Given the description of an element on the screen output the (x, y) to click on. 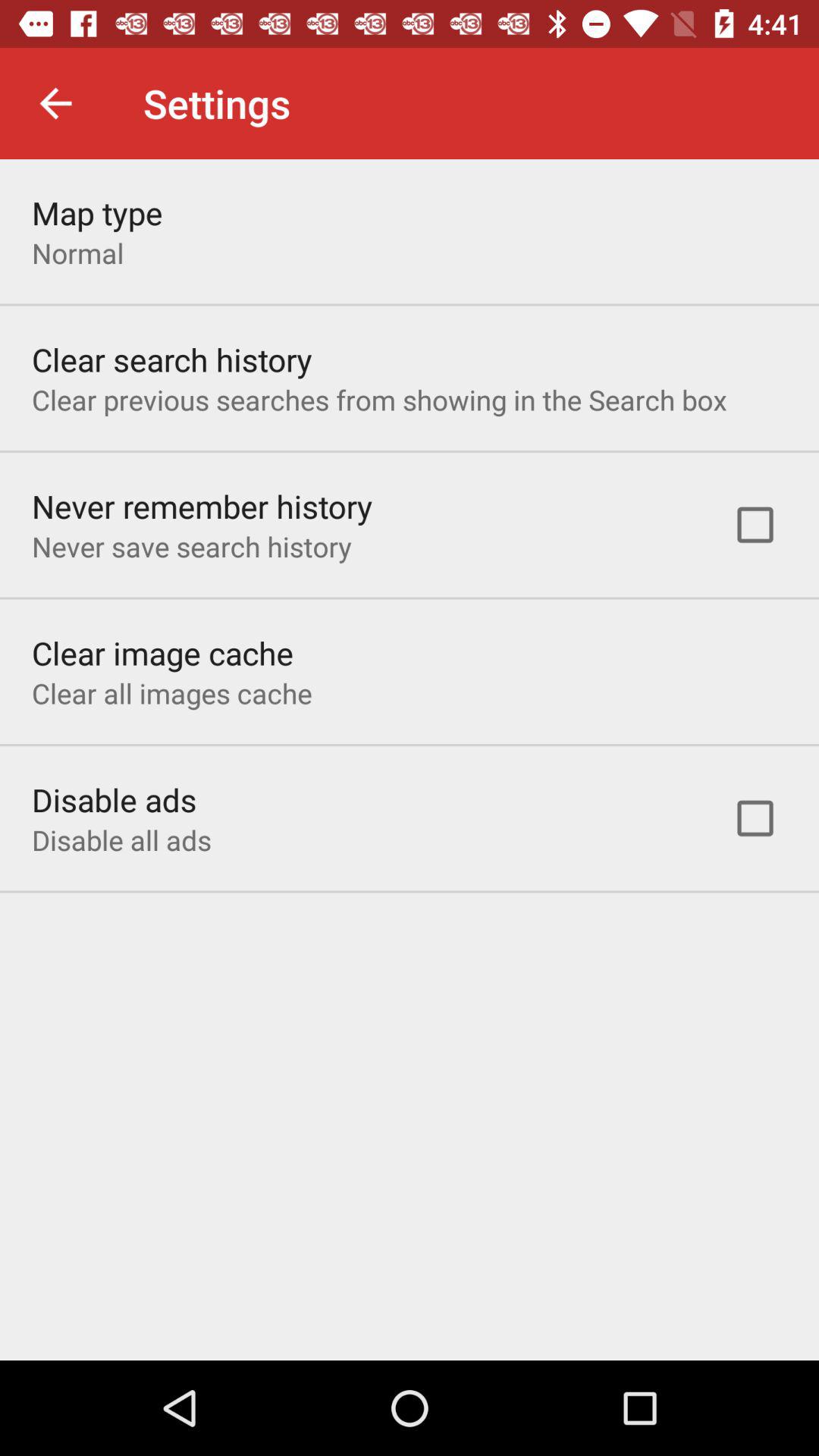
choose icon next to settings icon (55, 103)
